Given the description of an element on the screen output the (x, y) to click on. 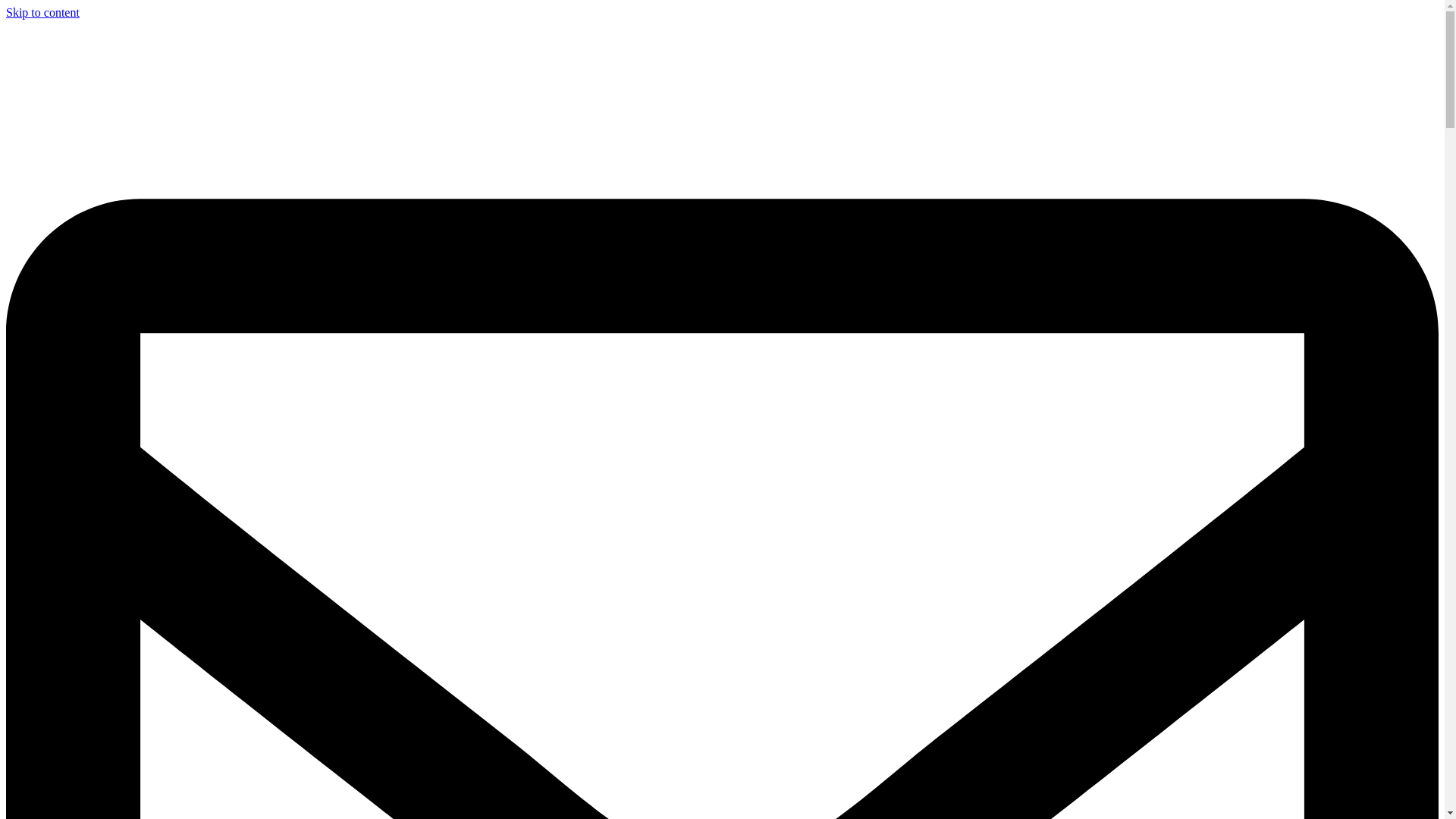
Skip to content (42, 11)
